Given the description of an element on the screen output the (x, y) to click on. 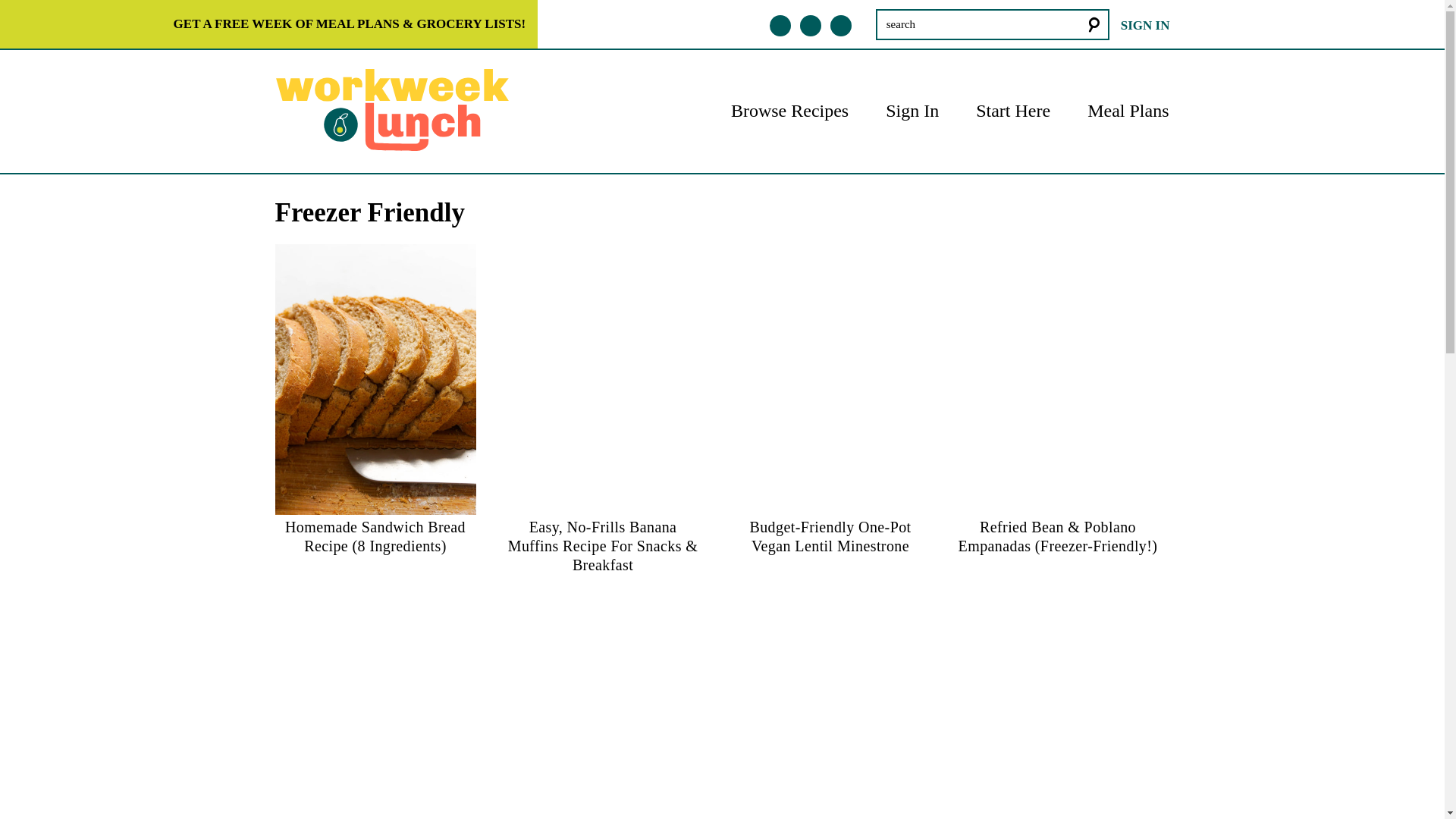
Sign In (912, 109)
SIGN IN (1145, 25)
Browse Recipes (789, 109)
Start Here (1012, 109)
Meal Plans (1128, 109)
Budget-Friendly One-Pot Vegan Lentil Minestrone (829, 543)
Go (116, 15)
